Given the description of an element on the screen output the (x, y) to click on. 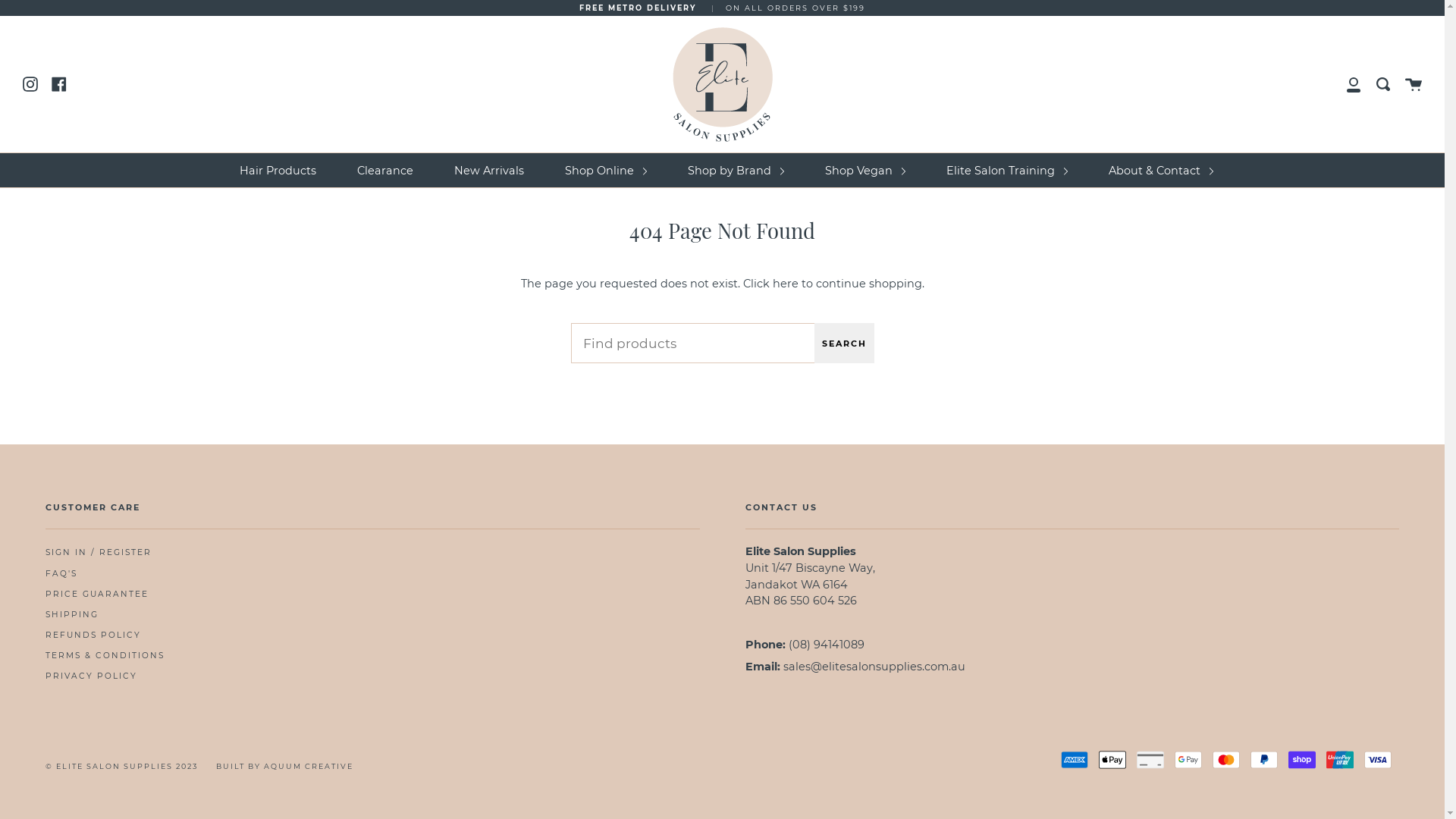
Hair Products Element type: text (277, 170)
sales@elitesalonsupplies.com.au Element type: text (873, 666)
Cart Element type: text (1413, 83)
SEARCH Element type: text (844, 343)
TERMS & CONDITIONS Element type: text (104, 655)
here Element type: text (784, 283)
Clearance Element type: text (385, 170)
Elite Salon Training Element type: text (1005, 170)
About & Contact Element type: text (1160, 170)
PRICE GUARANTEE Element type: text (96, 593)
Facebook Element type: text (58, 83)
Shop Online Element type: text (605, 170)
New Arrivals Element type: text (488, 170)
SIGN IN / REGISTER Element type: text (98, 551)
PRIVACY POLICY Element type: text (91, 675)
Shop Vegan Element type: text (864, 170)
Instagram Element type: text (29, 83)
Shop by Brand Element type: text (735, 170)
REFUNDS POLICY Element type: text (93, 634)
(08) 94141089 Element type: text (826, 644)
My Account Element type: text (1353, 83)
Search Element type: text (1383, 83)
FAQ'S Element type: text (61, 573)
FREE METRO DELIVERY | ON ALL ORDERS OVER $199 Element type: text (722, 7)
SHIPPING Element type: text (71, 614)
BUILT BY AQUUM CREATIVE Element type: text (284, 766)
